Given the description of an element on the screen output the (x, y) to click on. 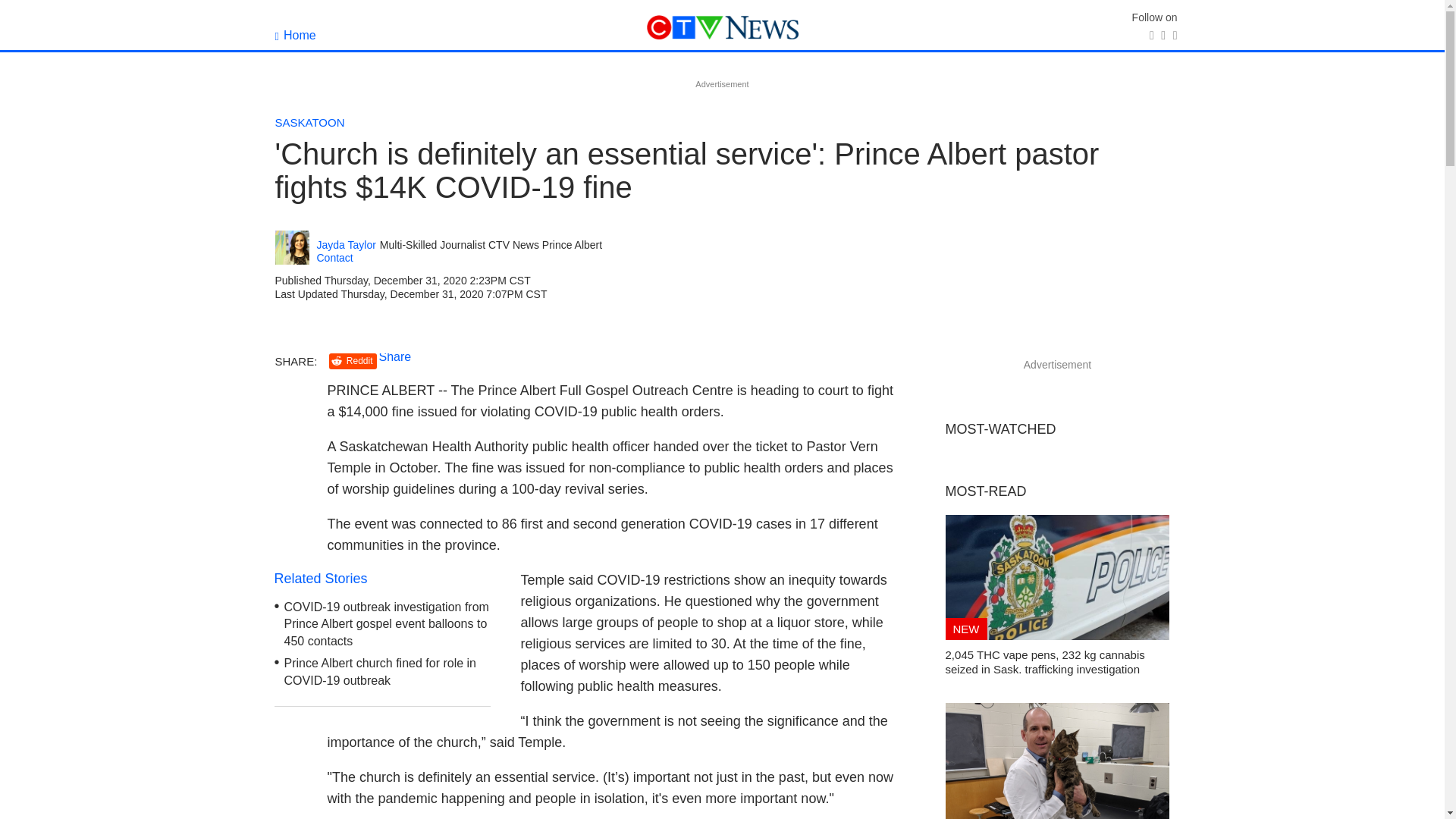
Home (295, 34)
Contact (335, 257)
SASKATOON (309, 122)
Share (395, 356)
Prince Albert church fined for role in COVID-19 outbreak (379, 671)
Jayda Taylor (346, 245)
Reddit (353, 360)
